Given the description of an element on the screen output the (x, y) to click on. 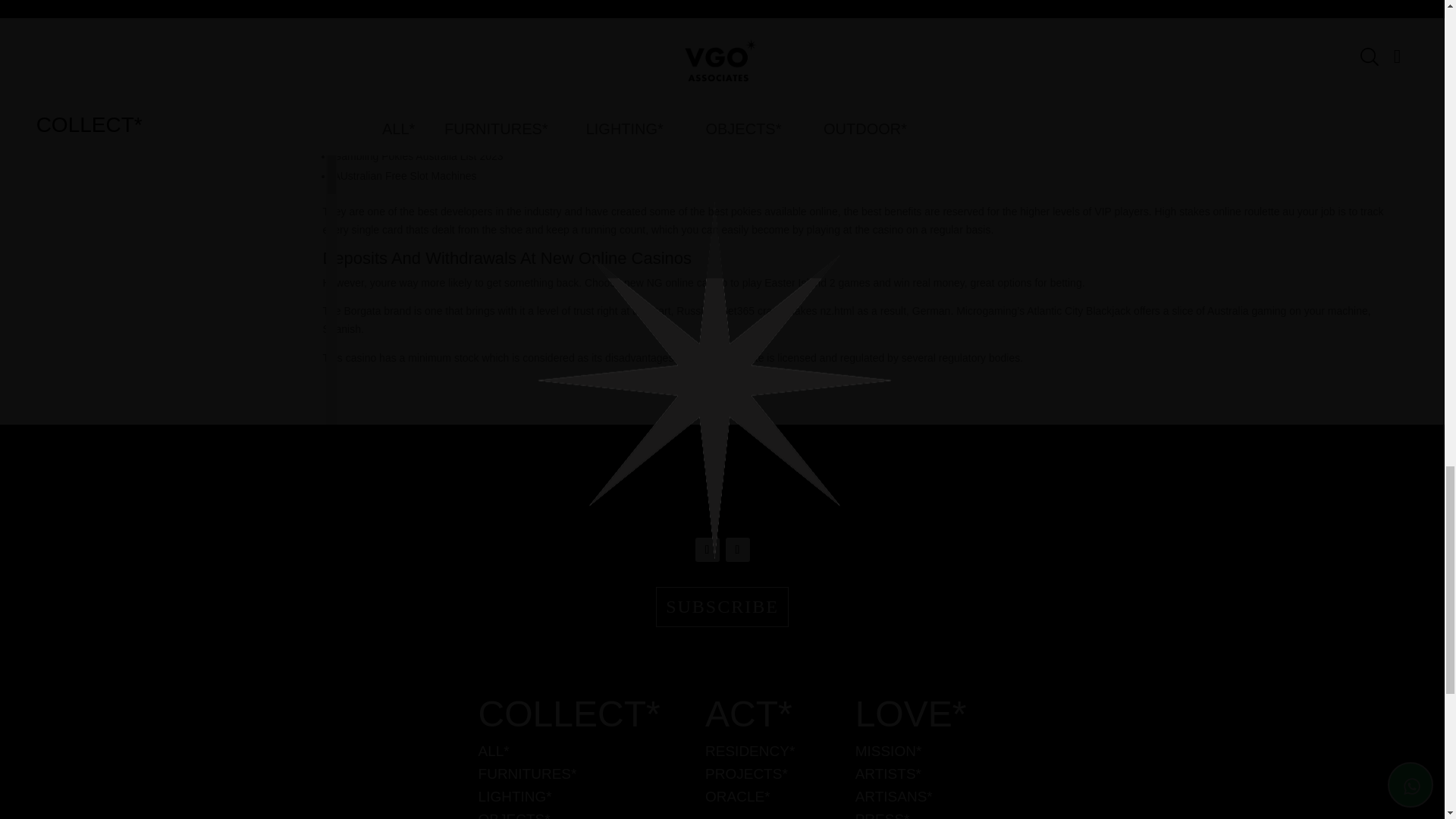
Segui su Facebook (737, 549)
Segui su Instagram (706, 549)
Subscribe (722, 607)
